Given the description of an element on the screen output the (x, y) to click on. 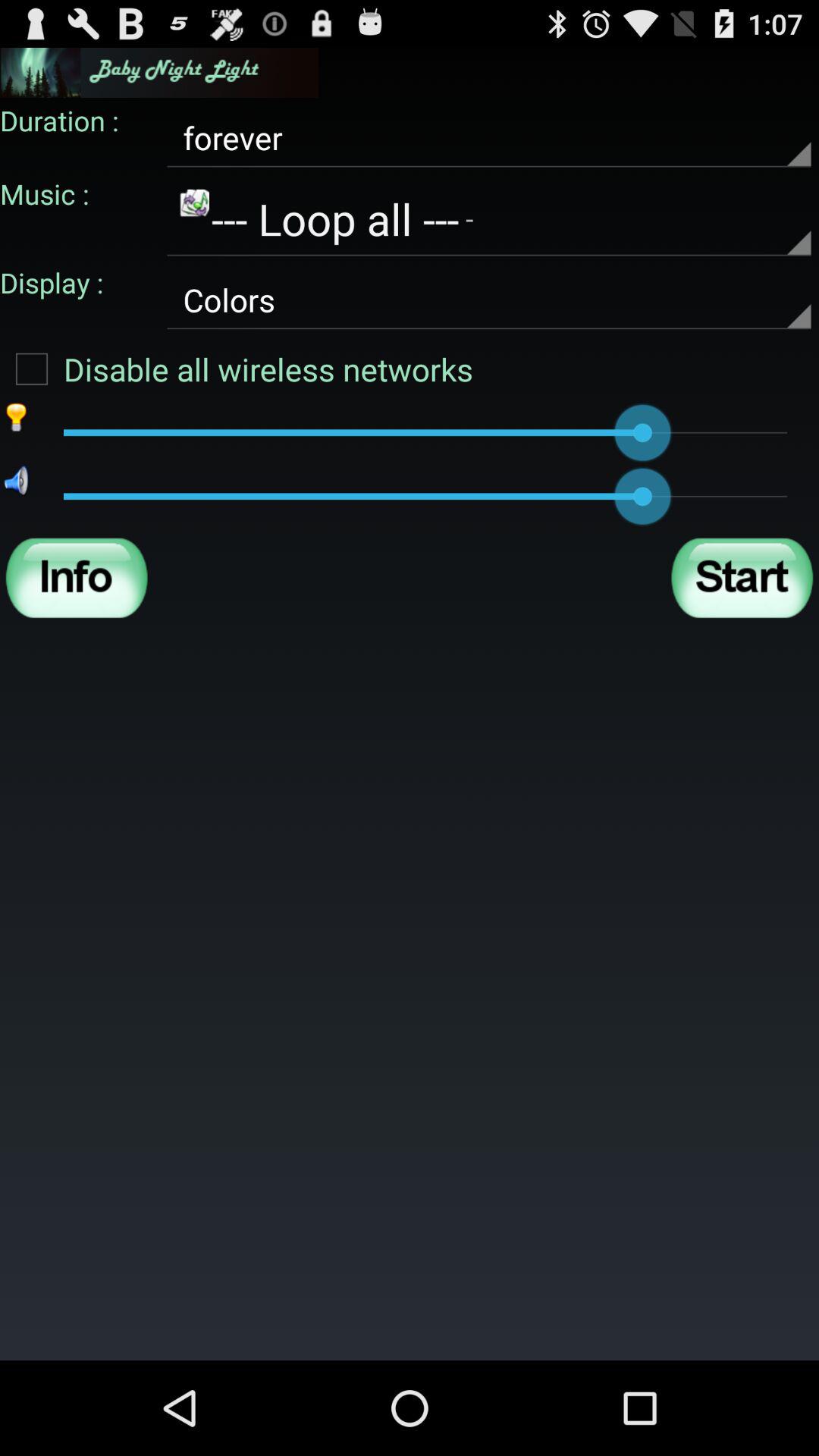
start (742, 577)
